Given the description of an element on the screen output the (x, y) to click on. 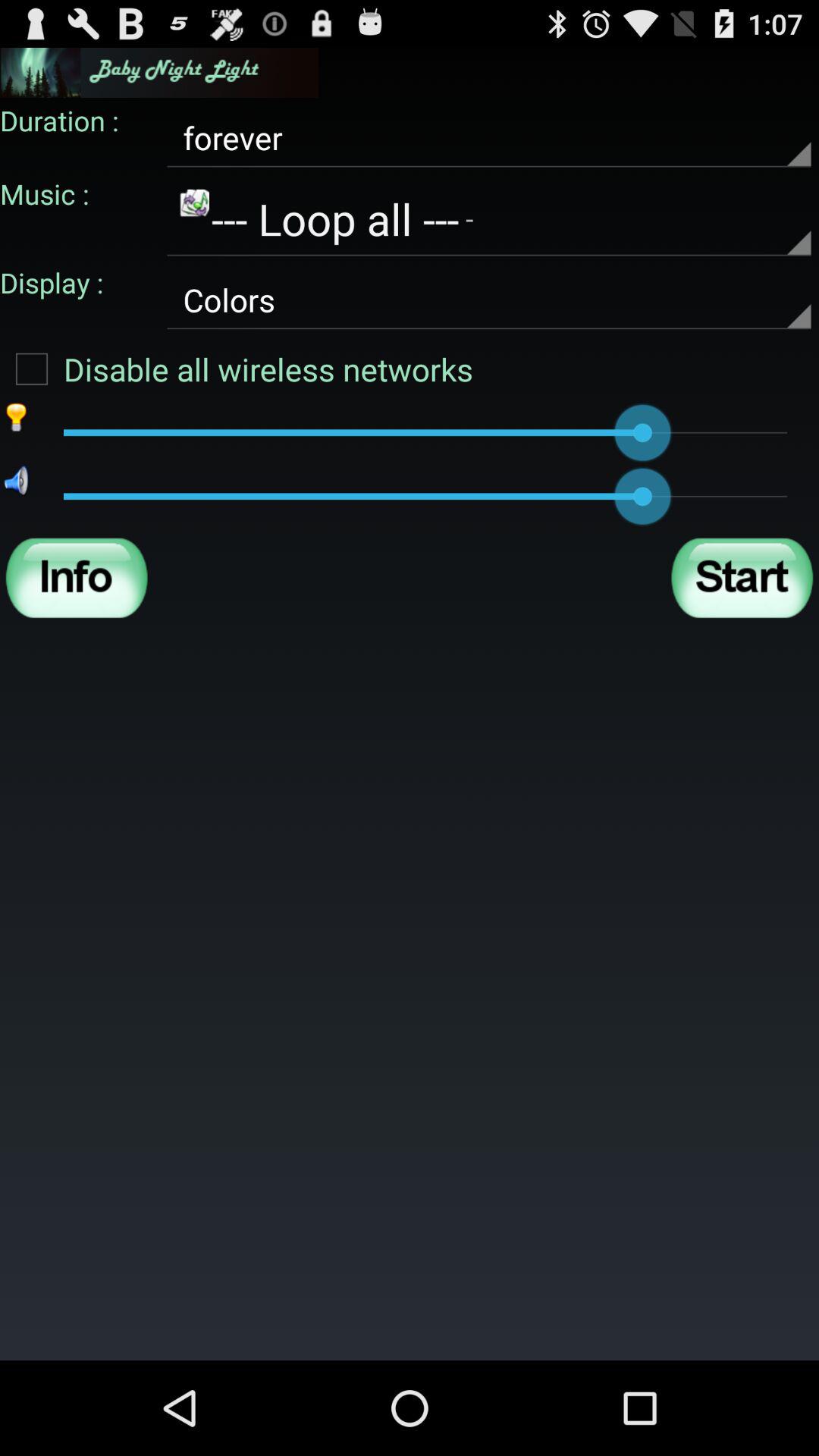
start (742, 577)
